Given the description of an element on the screen output the (x, y) to click on. 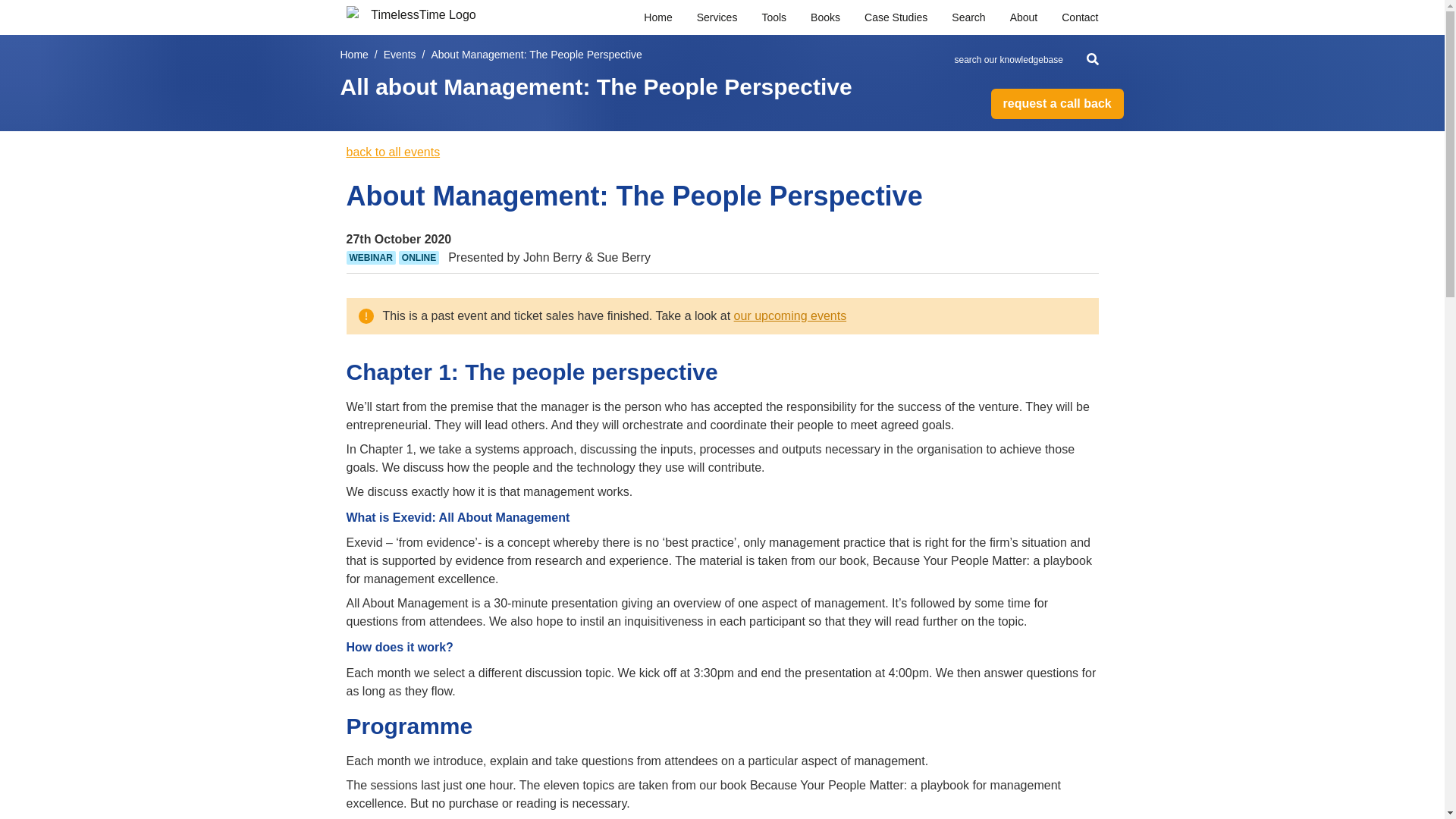
request a call back (1056, 103)
back to all events (392, 151)
About Management: The People Perspective (536, 54)
Tools (773, 17)
Events (400, 54)
our upcoming events (790, 315)
Search (968, 17)
Books (825, 17)
Contact (1079, 17)
Home (353, 54)
Case Studies (895, 17)
Home (657, 17)
Services (717, 17)
About (1024, 17)
